Given the description of an element on the screen output the (x, y) to click on. 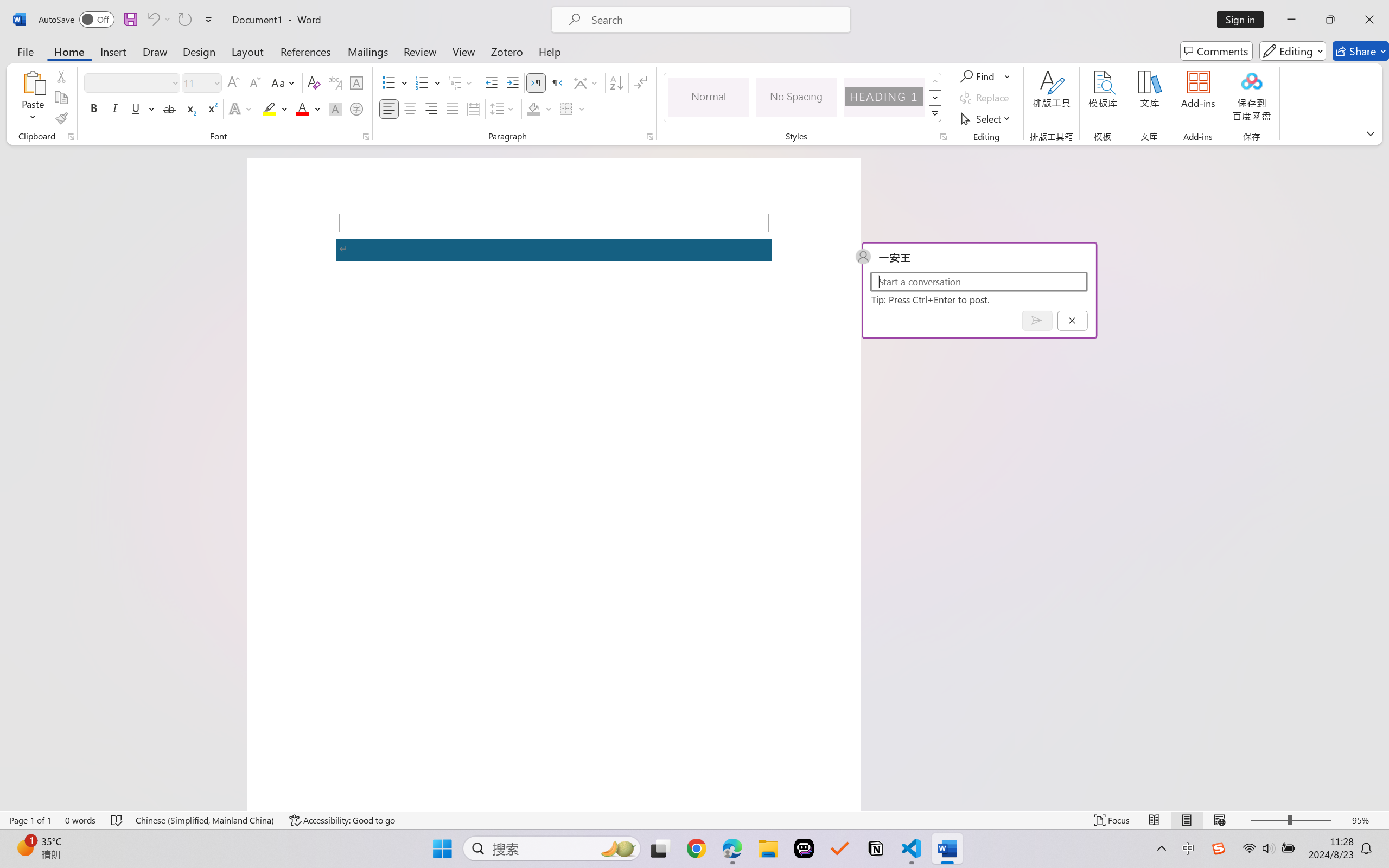
Undo Apply Quick Style Set (158, 19)
Right-to-Left (556, 82)
Text Highlight Color RGB(255, 255, 0) (269, 108)
